Given the description of an element on the screen output the (x, y) to click on. 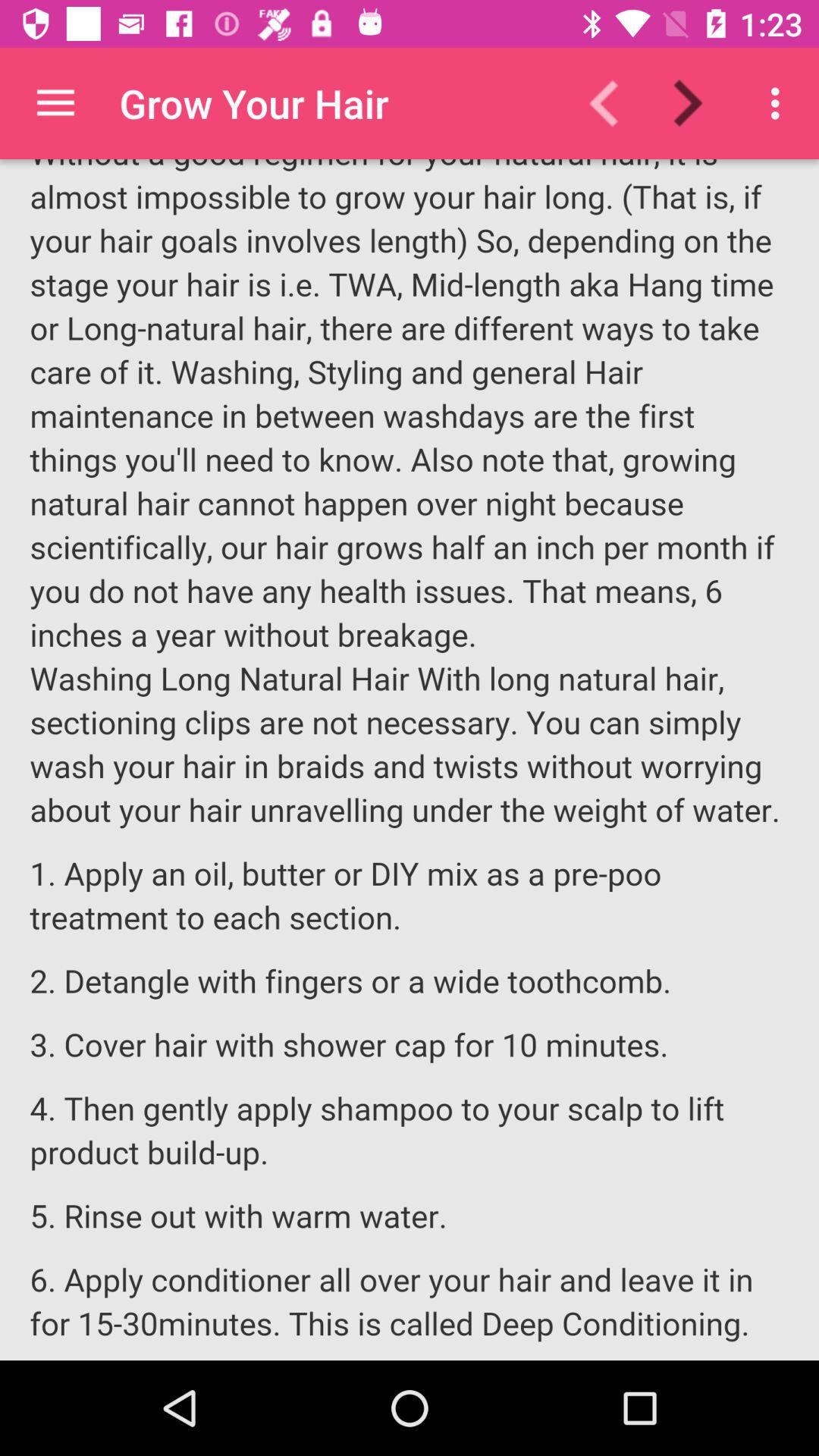
back word (613, 103)
